Given the description of an element on the screen output the (x, y) to click on. 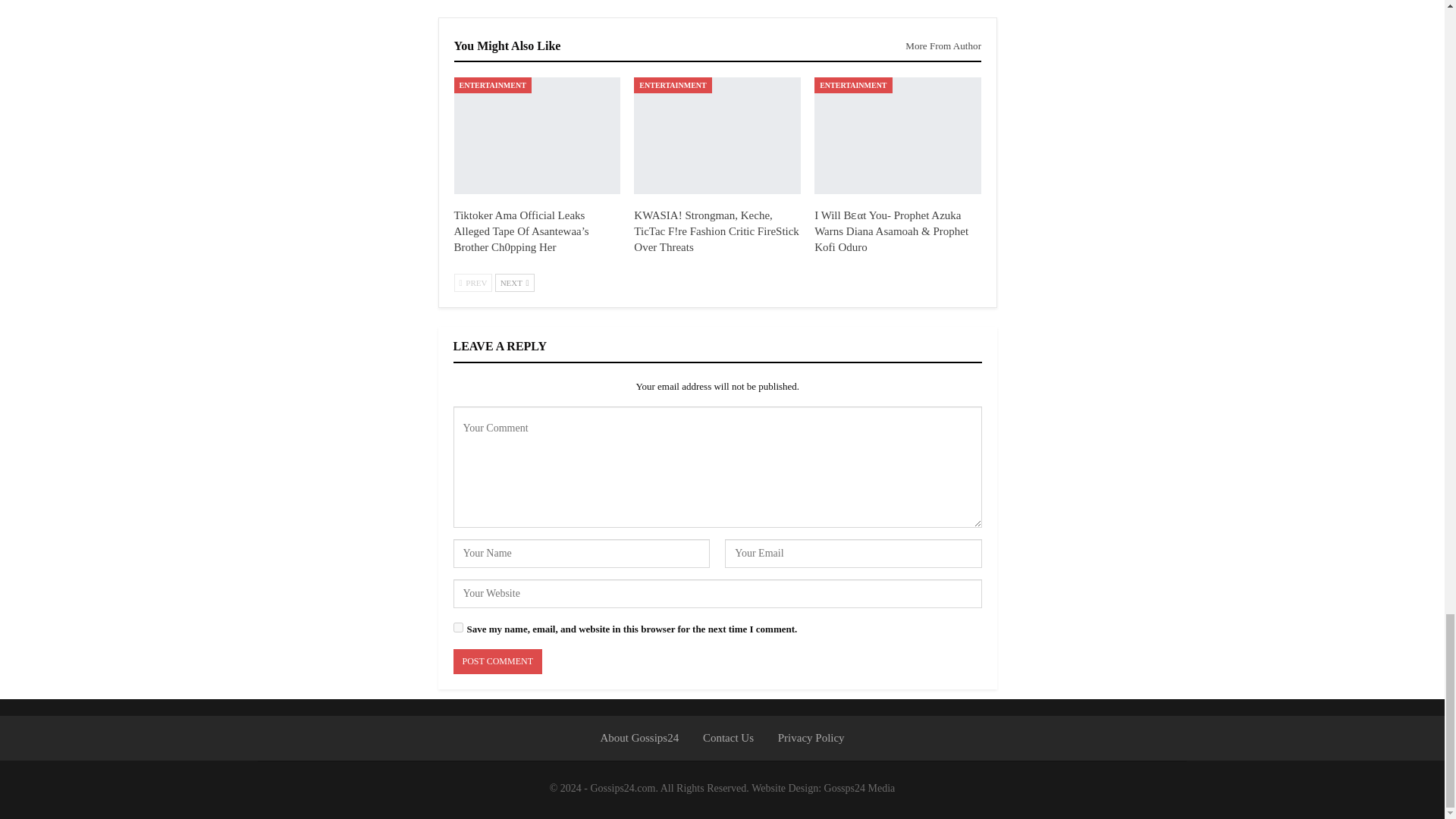
Post Comment (496, 661)
yes (457, 627)
